Given the description of an element on the screen output the (x, y) to click on. 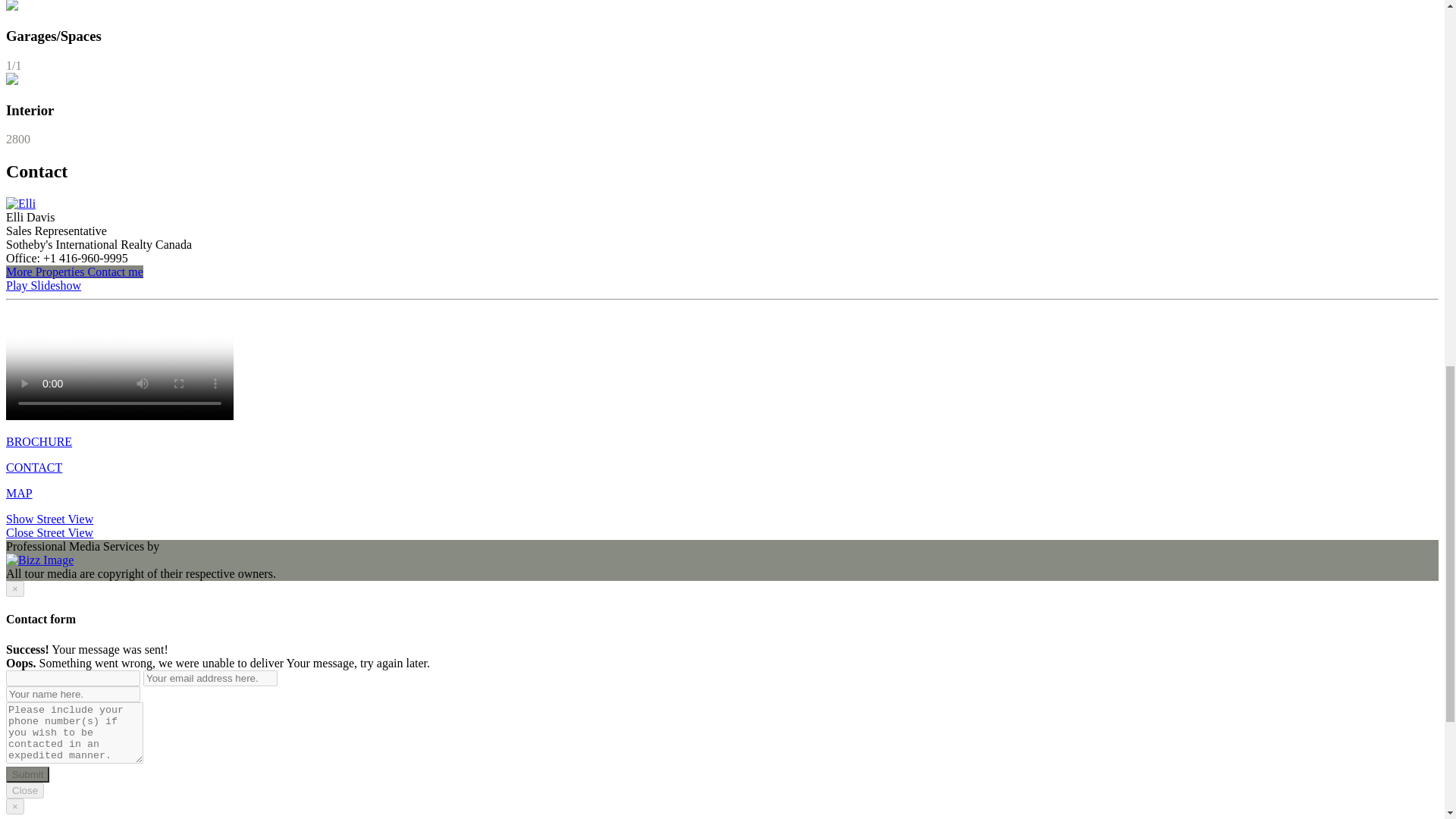
Contact me (114, 271)
More Properties (46, 271)
Play Slideshow (43, 285)
